Given the description of an element on the screen output the (x, y) to click on. 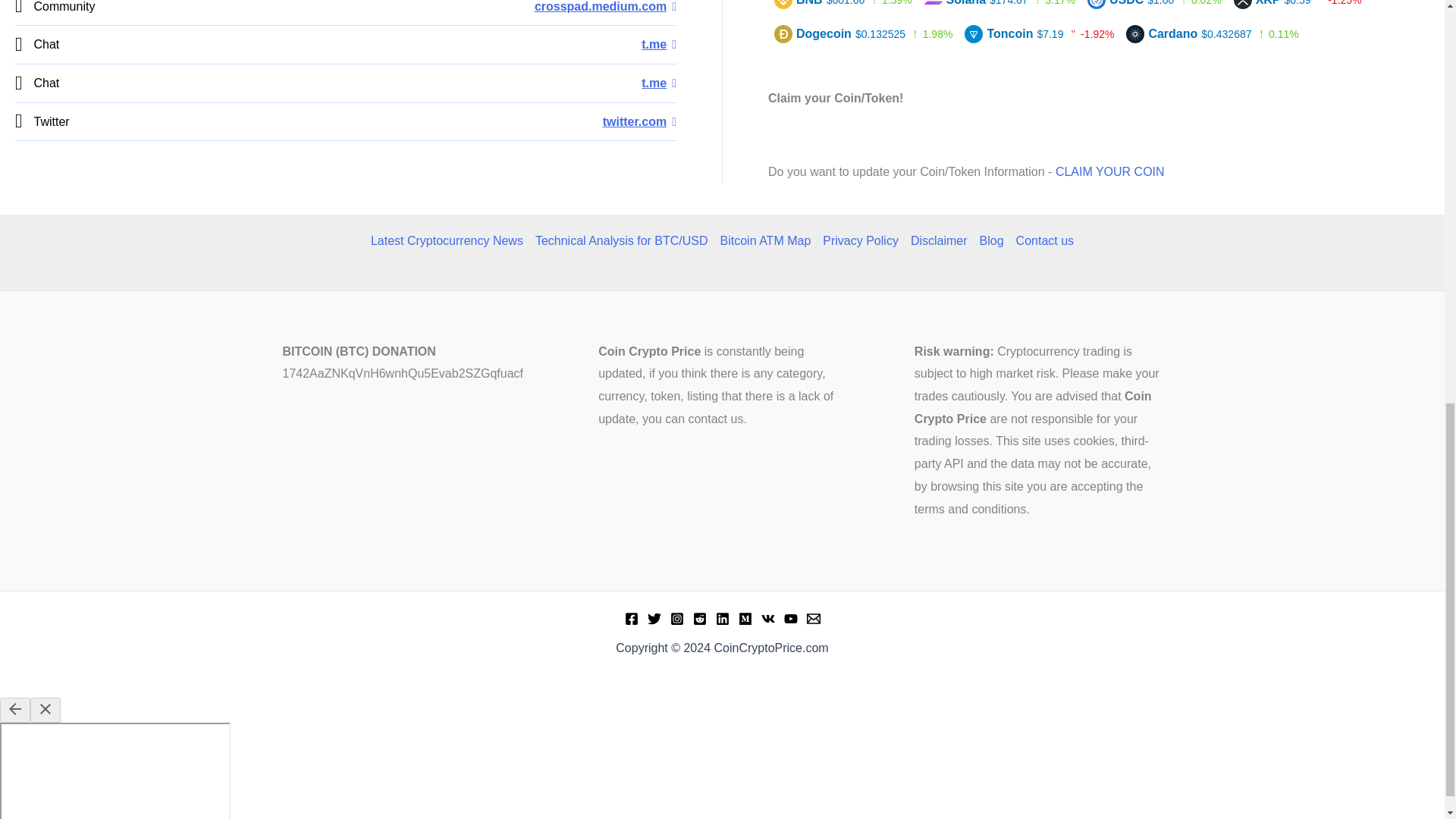
Chat (659, 82)
Community (605, 6)
Chat (659, 43)
BNB (800, 2)
Twitter (639, 121)
